Given the description of an element on the screen output the (x, y) to click on. 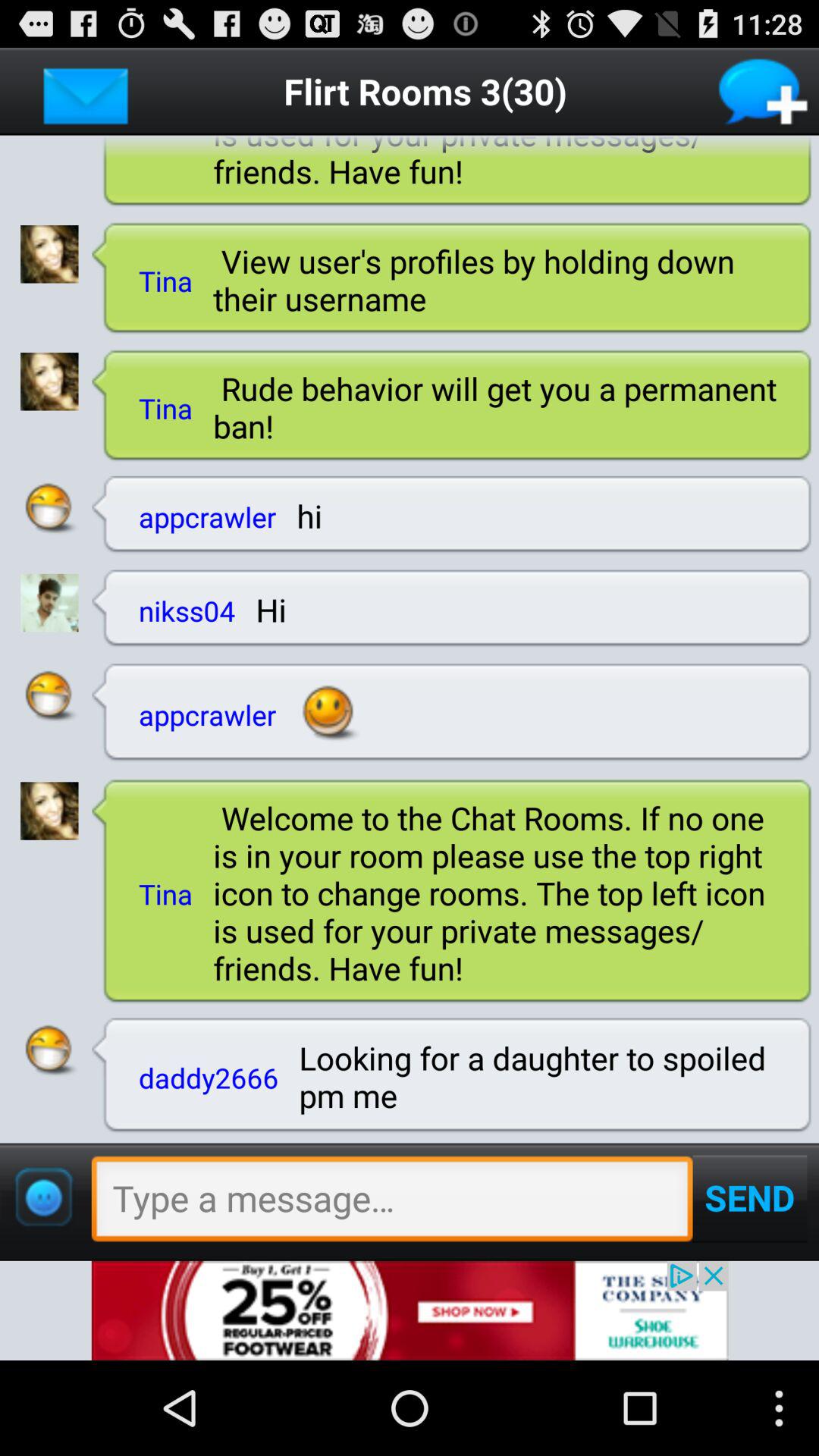
type a message (391, 1202)
